Given the description of an element on the screen output the (x, y) to click on. 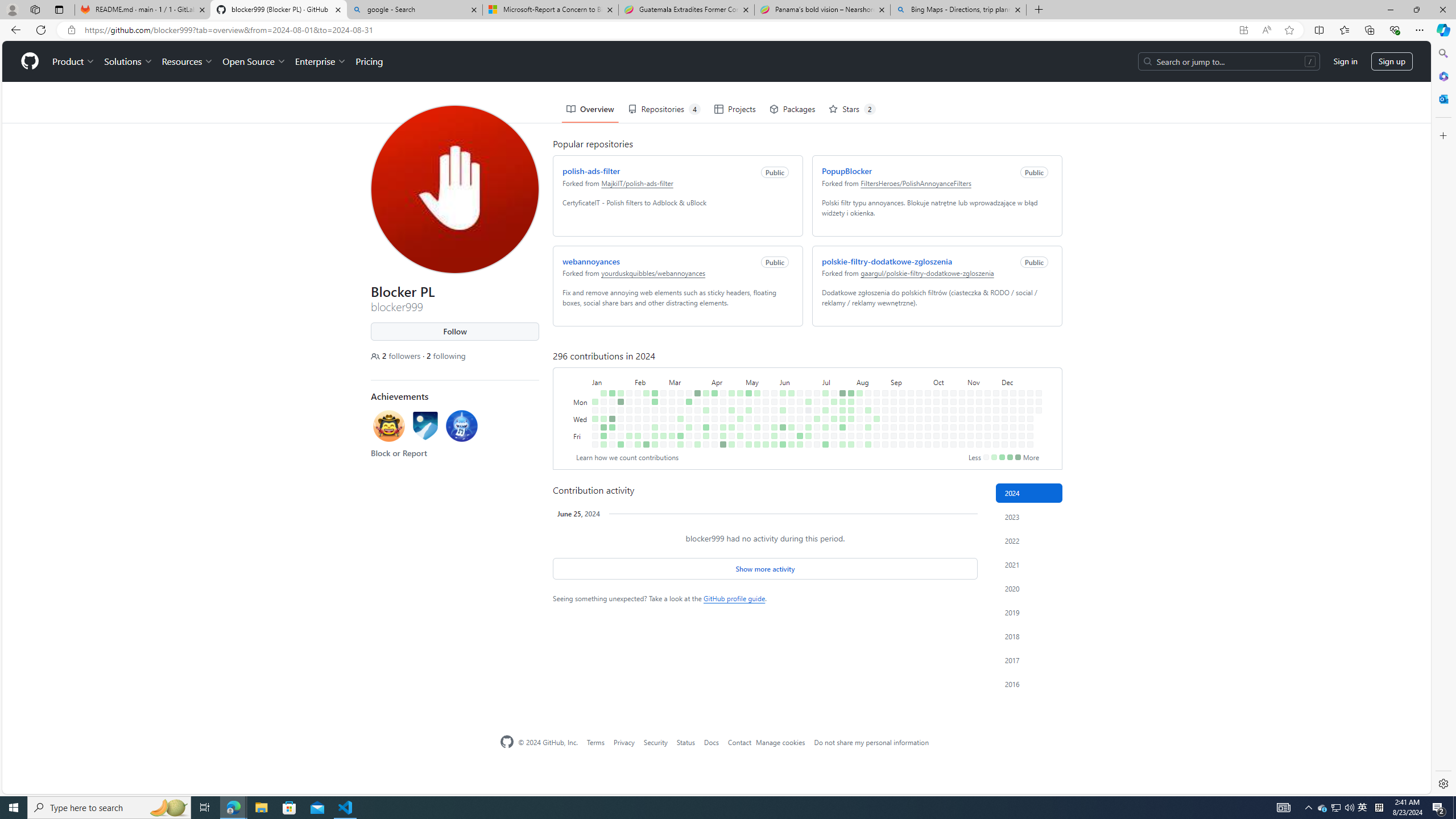
No contributions on January 15th. (609, 360)
GitHub profile guide (734, 597)
1 contribution on May 31st. (771, 394)
No contributions on September 27th. (917, 394)
Contribution activity in 2016 (1028, 683)
Tuesday (579, 369)
2 contributions on July 11th. (823, 386)
No contributions on October 5th. (927, 444)
Do not share my personal information (870, 741)
2018 (1028, 636)
No contributions on August 2nd. (848, 394)
Packages (789, 67)
2 contributions on January 21st. (618, 351)
No contributions on April 17th. (720, 377)
No contributions on November 29th. (995, 435)
